Given the description of an element on the screen output the (x, y) to click on. 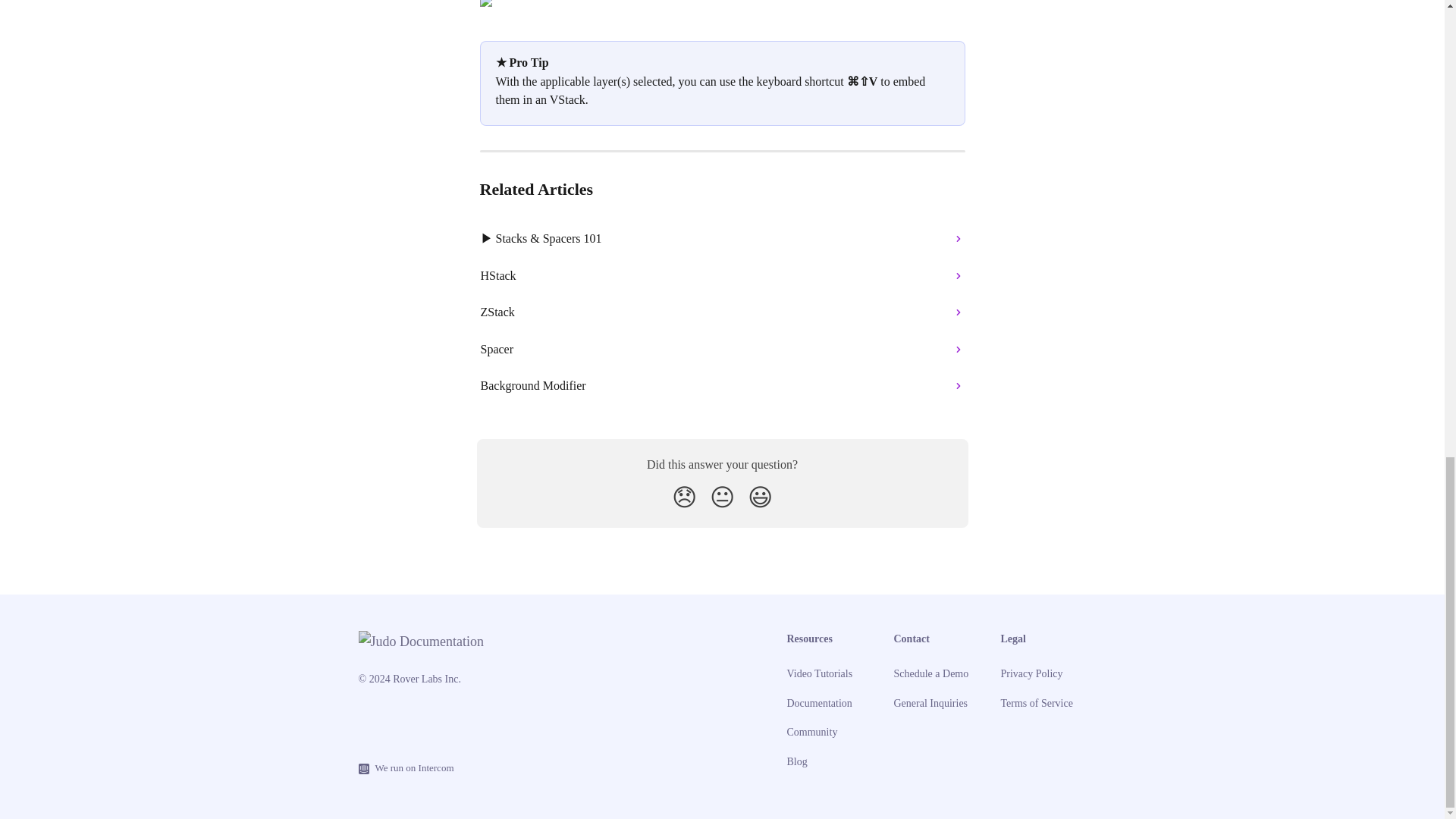
We run on Intercom (410, 768)
Neutral (722, 497)
General Inquiries (930, 703)
Community (812, 731)
Background Modifier (722, 385)
Terms of Service (1037, 703)
Disappointed (684, 497)
Blog (797, 761)
HStack (722, 275)
Spacer (722, 349)
Privacy Policy (1031, 673)
Documentation (819, 703)
Schedule a Demo (930, 673)
Smiley (760, 497)
Video Tutorials (820, 673)
